Given the description of an element on the screen output the (x, y) to click on. 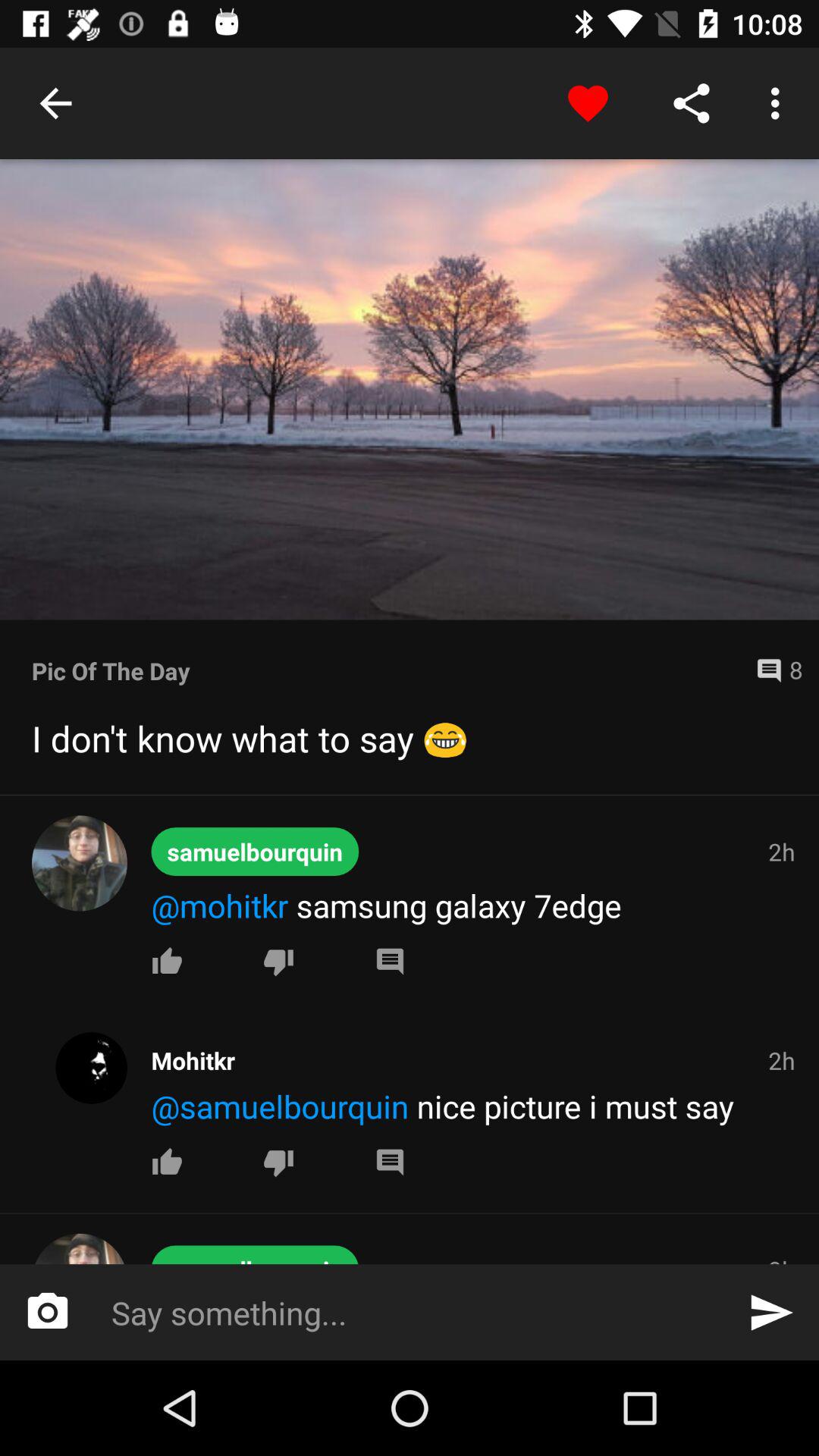
turn off item at the top left corner (55, 103)
